Given the description of an element on the screen output the (x, y) to click on. 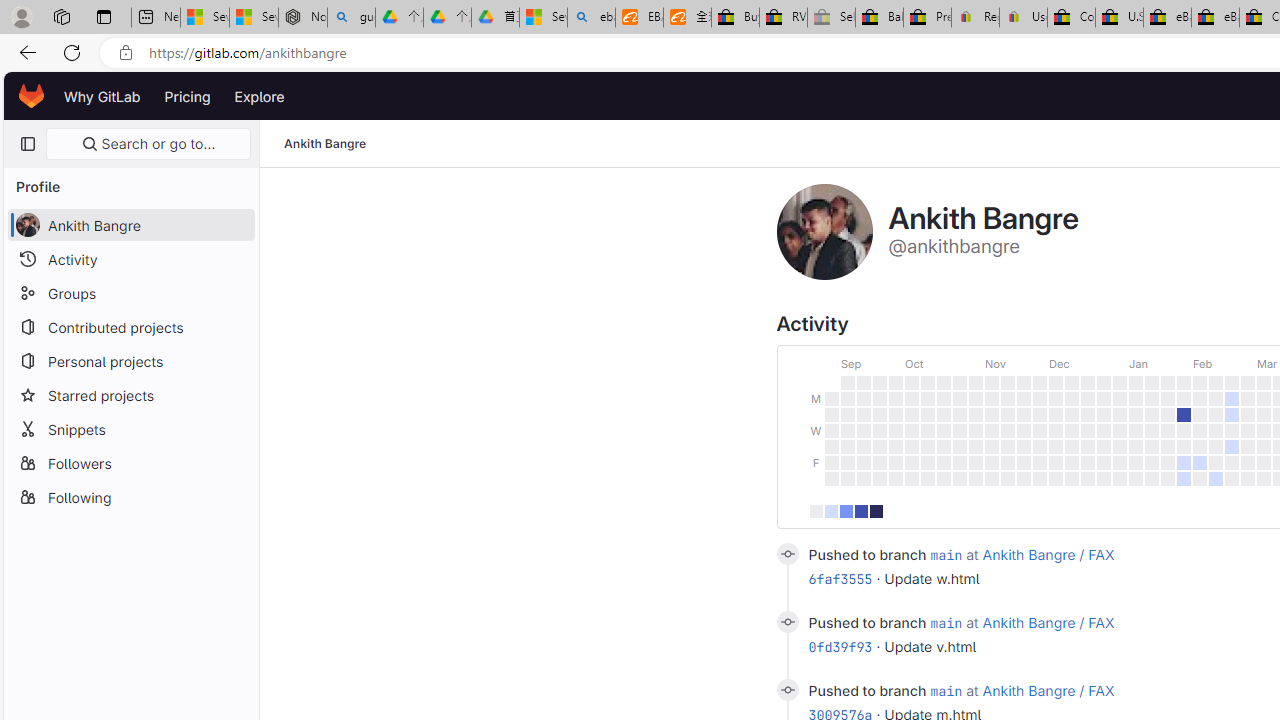
Followers (130, 462)
6faf3555 (839, 579)
